Given the description of an element on the screen output the (x, y) to click on. 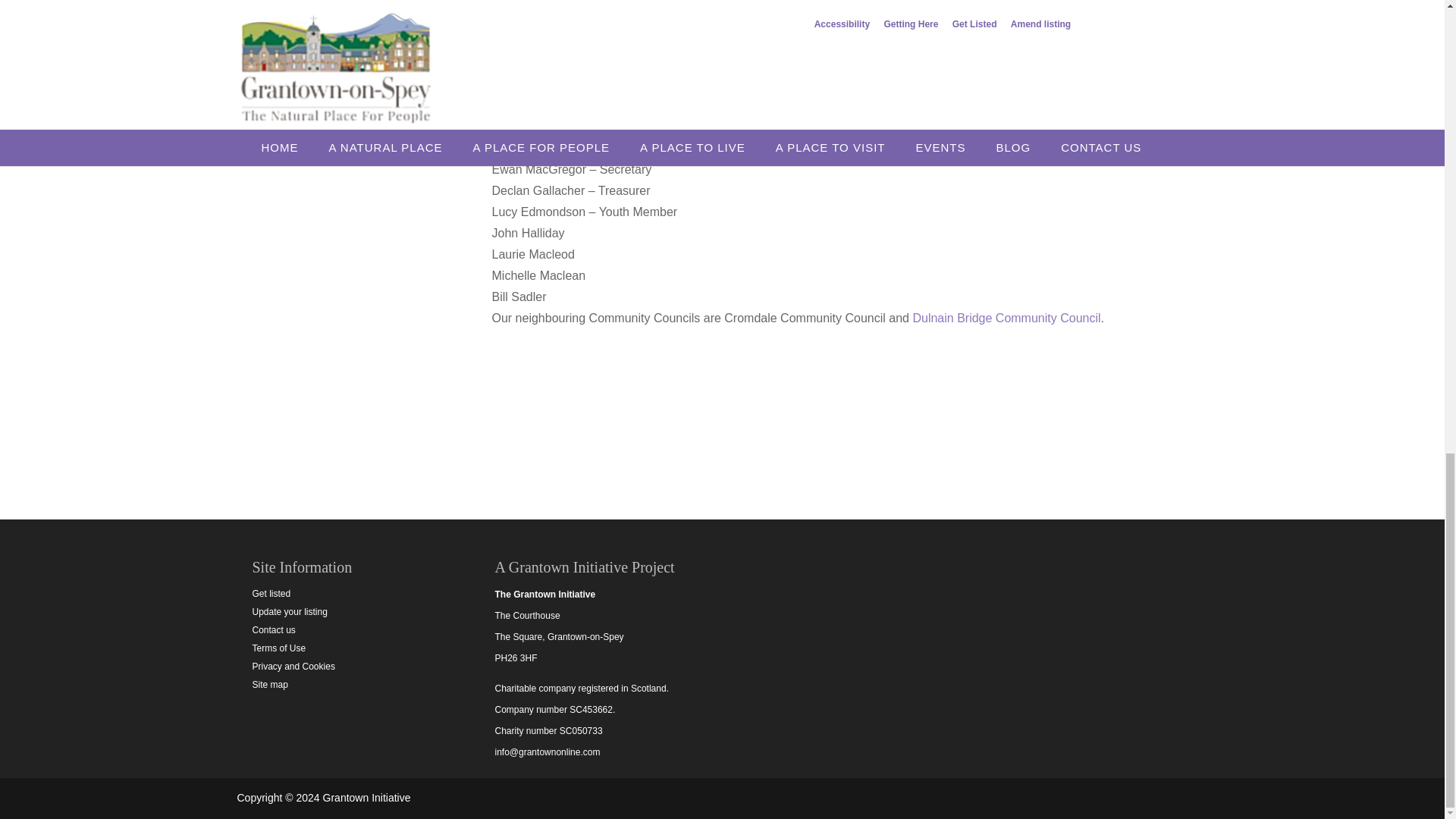
Dulnain Bridge Community Council (1006, 318)
